Given the description of an element on the screen output the (x, y) to click on. 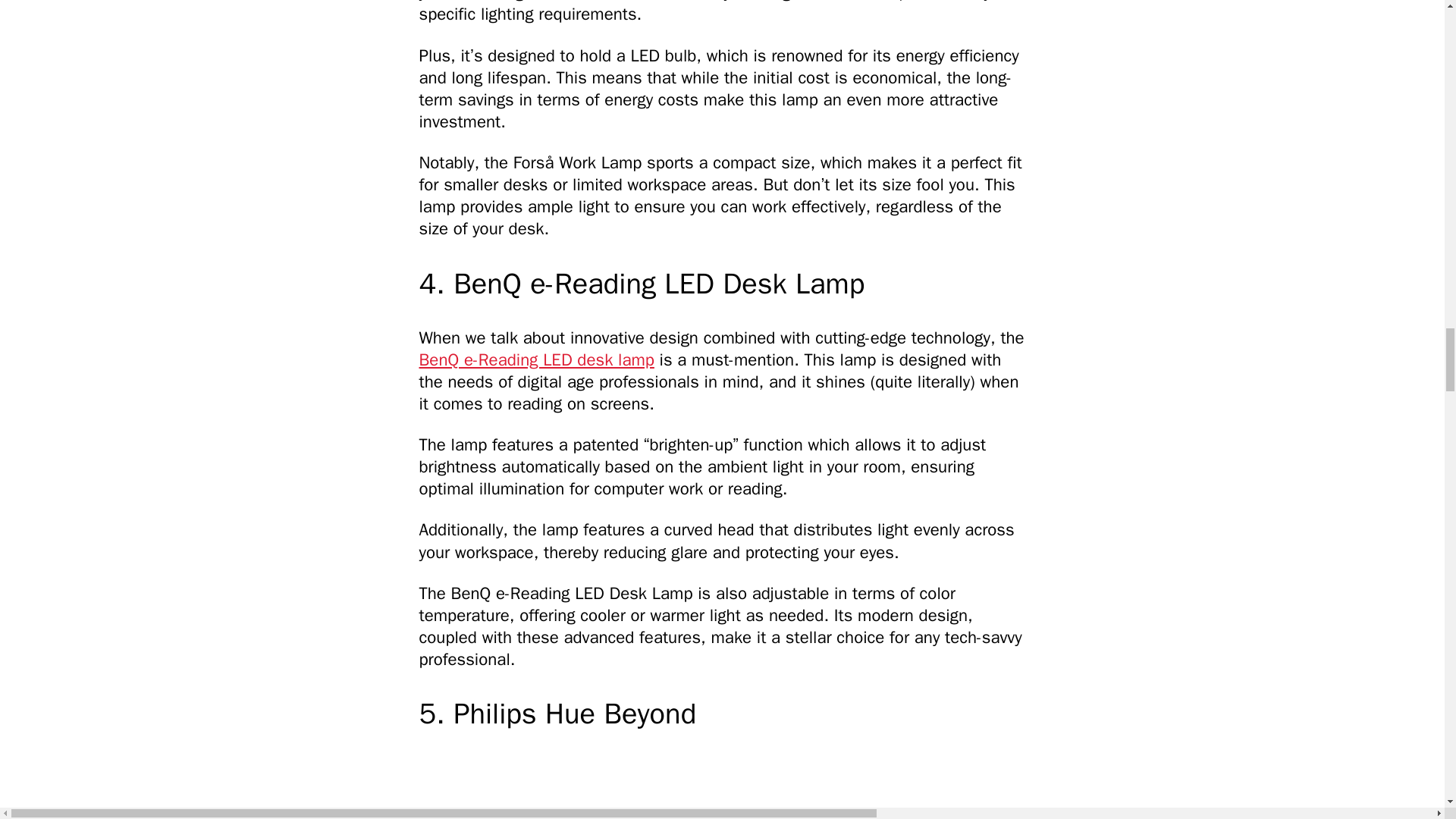
BenQ e-Reading LED desk lamp (536, 359)
